Given the description of an element on the screen output the (x, y) to click on. 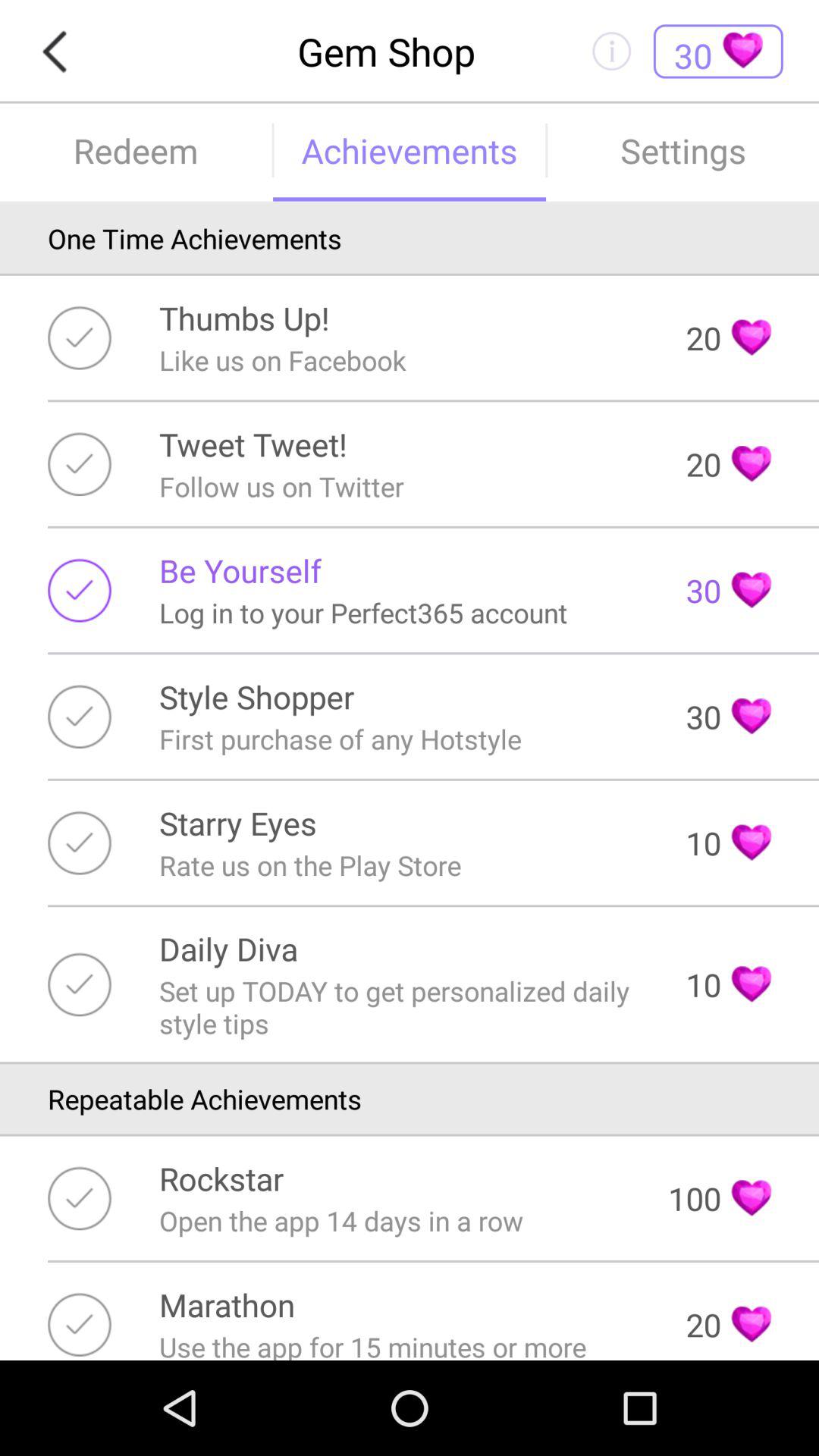
jump to one time achievements item (409, 238)
